Given the description of an element on the screen output the (x, y) to click on. 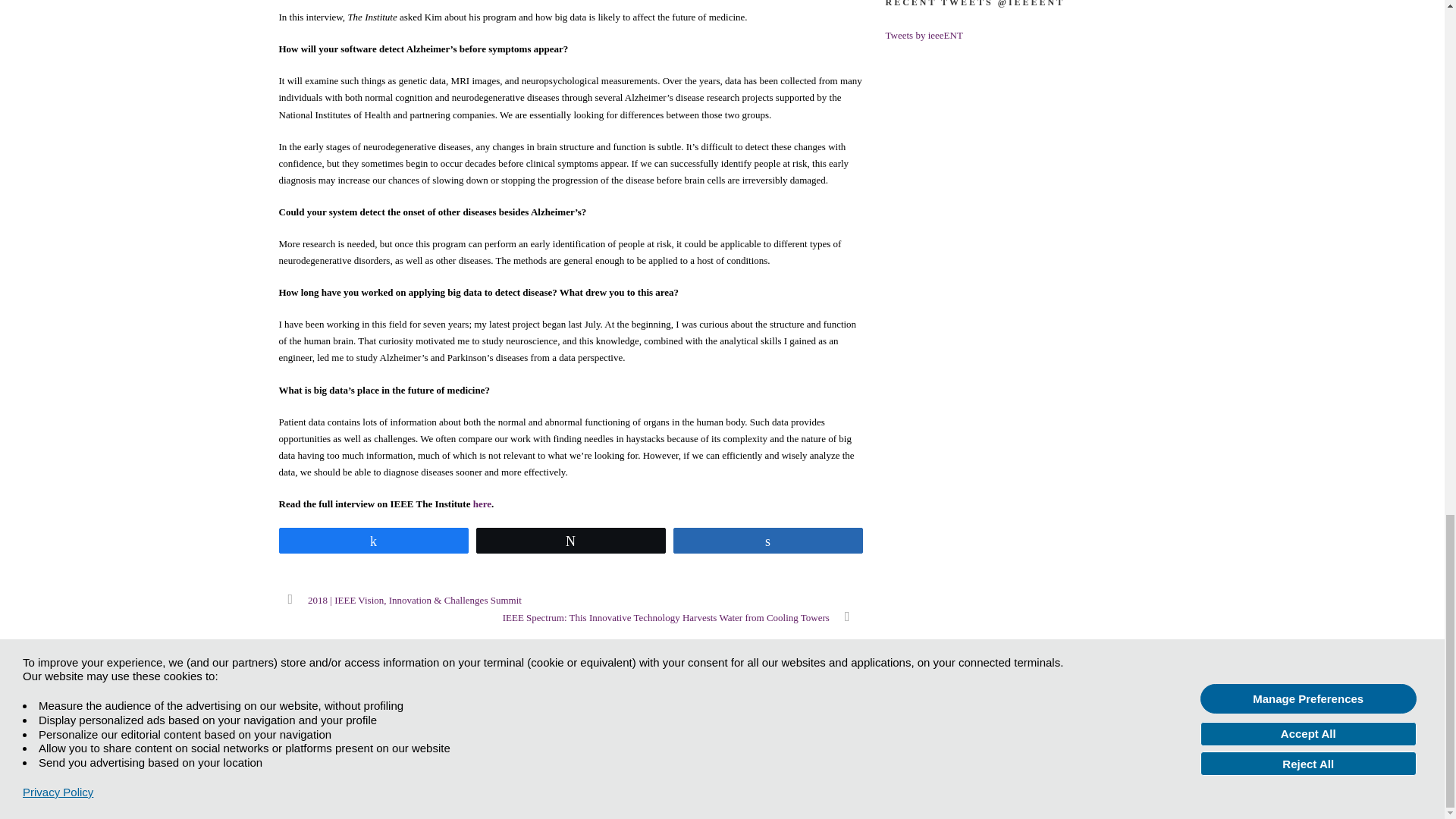
Home (290, 728)
Facebook (1060, 740)
Accessibility (453, 728)
Collabratec (1122, 740)
Twitter (1091, 740)
More Sites (341, 728)
LinkedIn (1152, 740)
Contact (395, 728)
